Given the description of an element on the screen output the (x, y) to click on. 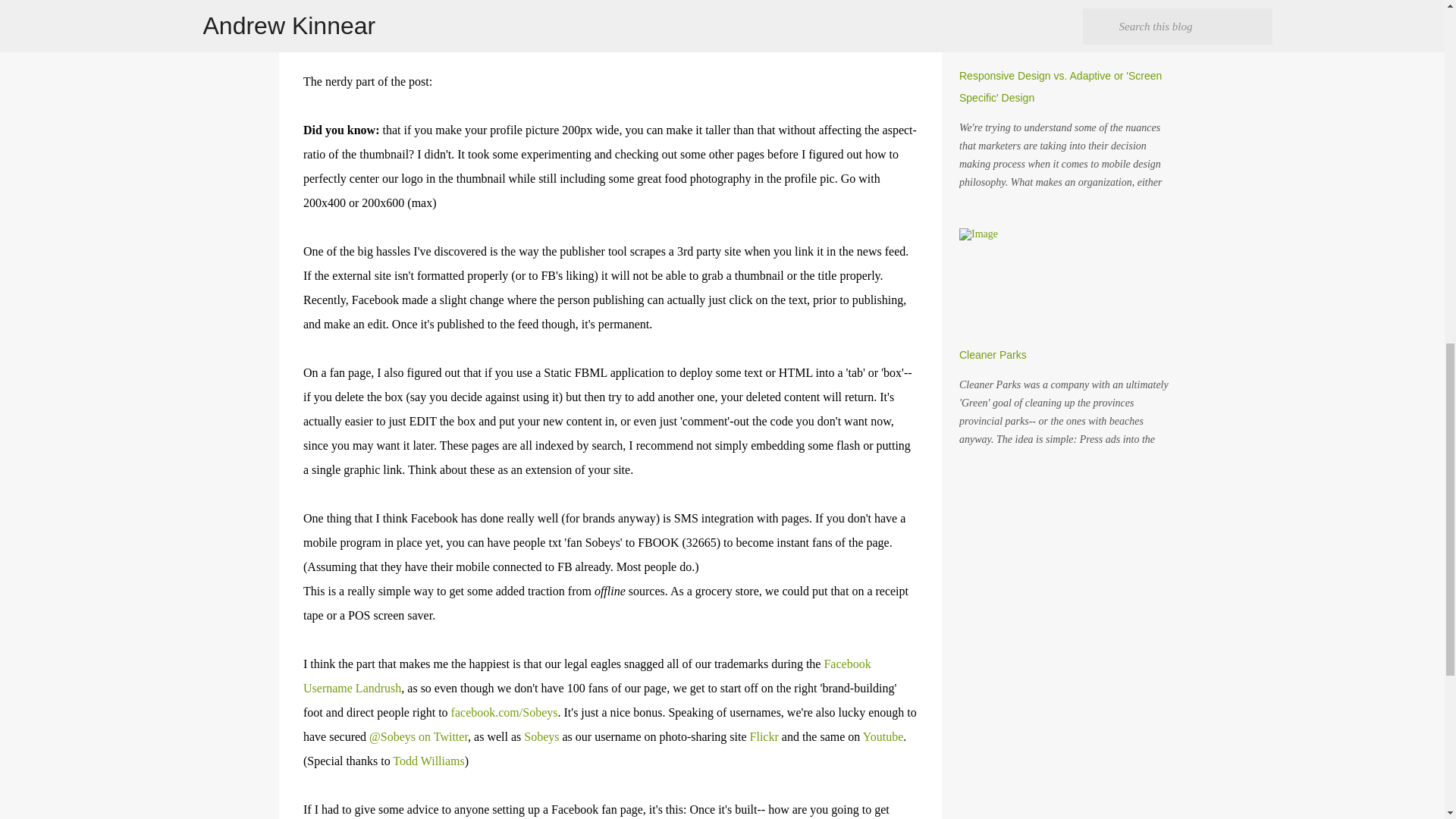
Facebook Username Landrush (586, 675)
Todd Williams (428, 760)
Sobeys (541, 736)
Flickr (763, 736)
Responsive Design vs. Adaptive or 'Screen Specific' Design (1060, 86)
Youtube (883, 736)
Cleaner Parks (992, 354)
